Given the description of an element on the screen output the (x, y) to click on. 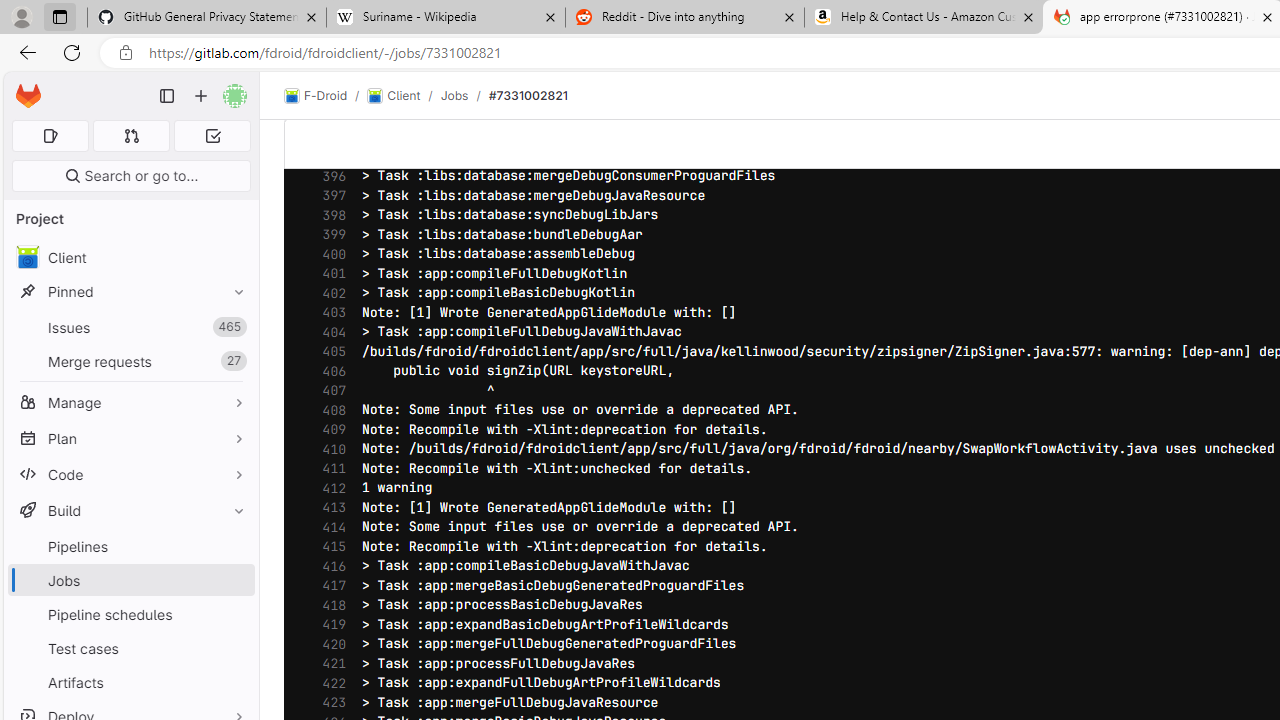
393 (329, 118)
407 (329, 390)
Pin Pipeline schedules (234, 614)
F-Droid (316, 96)
#7331002821 (527, 95)
avatar Client (130, 257)
422 (329, 683)
392 (329, 97)
Pipelines (130, 546)
To-Do list 0 (212, 136)
Unpin Merge requests (234, 361)
Client/ (404, 96)
394 (329, 137)
409 (329, 429)
401 (329, 273)
